Given the description of an element on the screen output the (x, y) to click on. 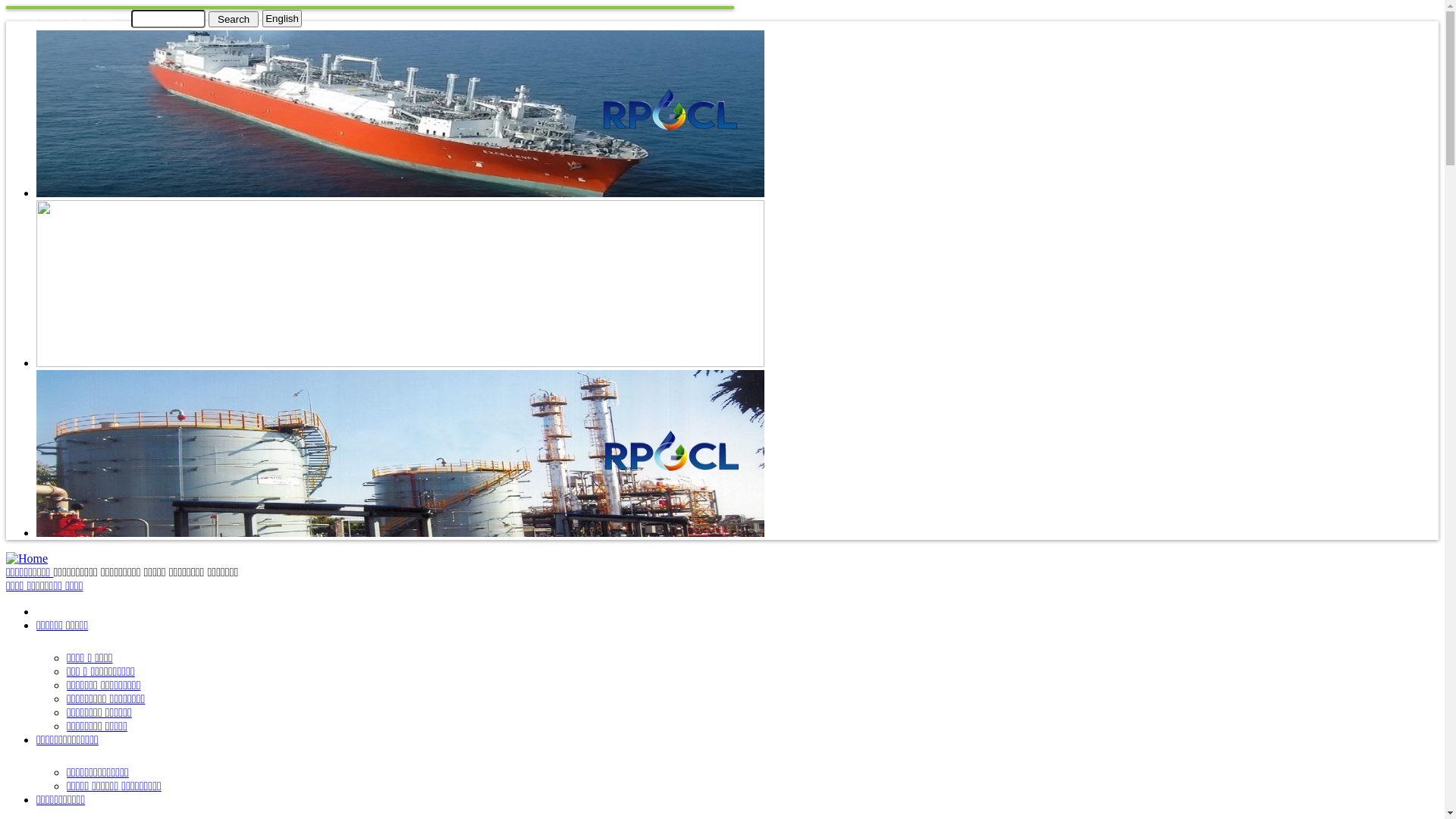
Home Element type: hover (26, 558)
Search Element type: text (233, 18)
English Element type: text (281, 18)
